Given the description of an element on the screen output the (x, y) to click on. 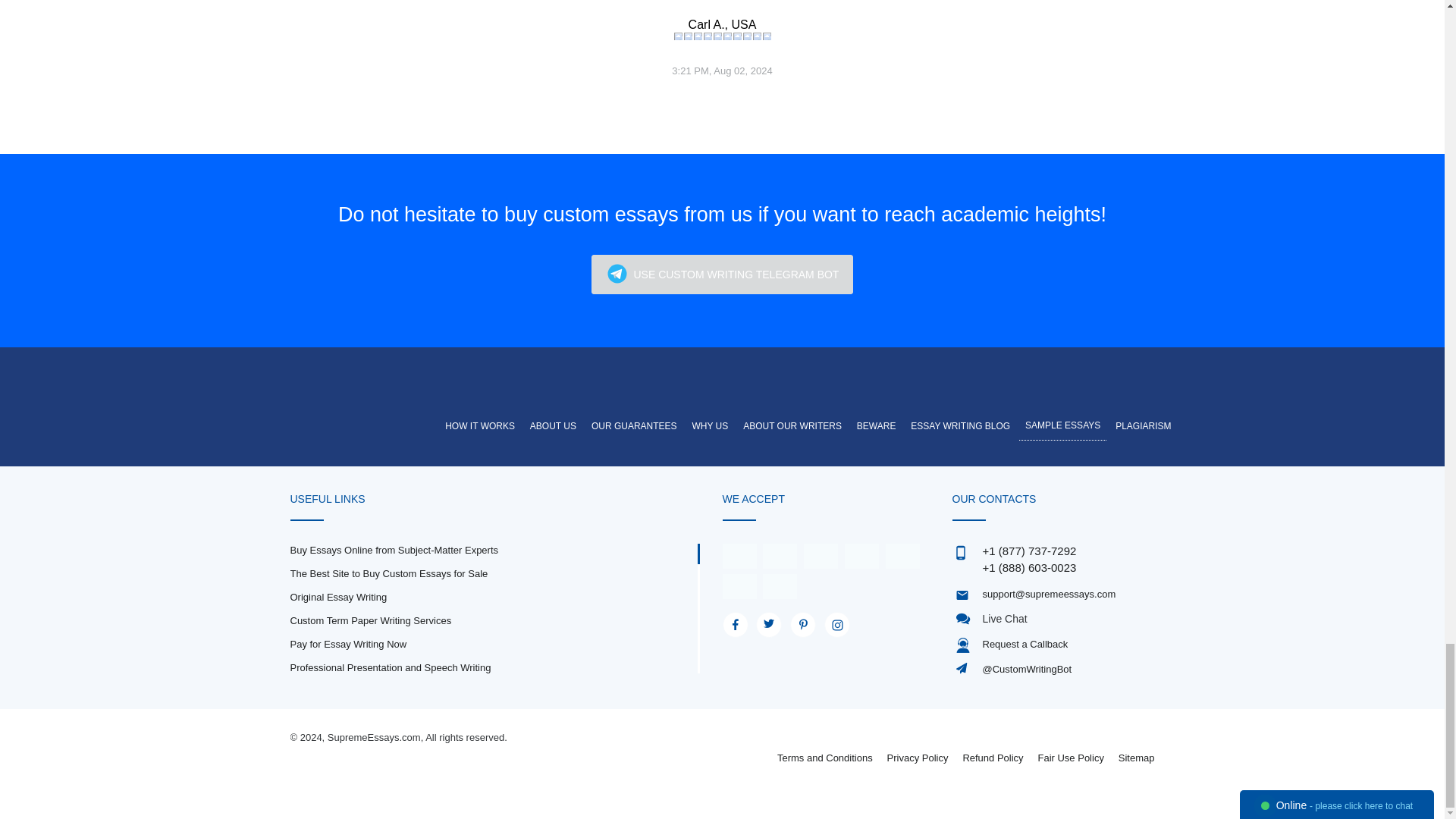
Credit and debit cards by Visa (738, 554)
Credit and debit cards by MasterCard (779, 554)
Credit cards by American Express (820, 554)
Credit cards by Discover (902, 554)
Supremeessays.com (374, 390)
Credit cards by Diners Club (738, 585)
Credit cards by JCB (779, 585)
Apple pay (861, 554)
